Given the description of an element on the screen output the (x, y) to click on. 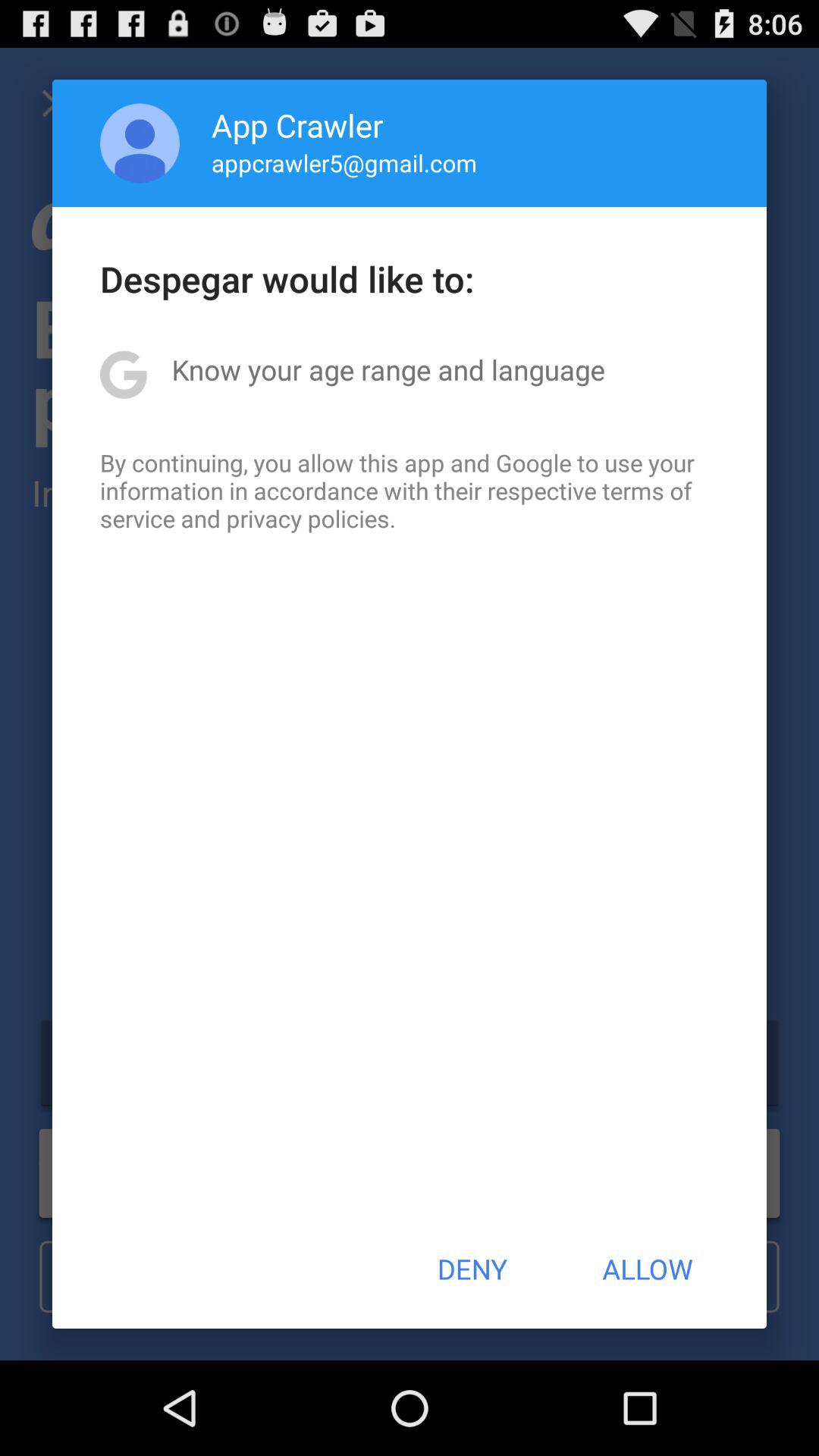
choose know your age item (388, 369)
